Given the description of an element on the screen output the (x, y) to click on. 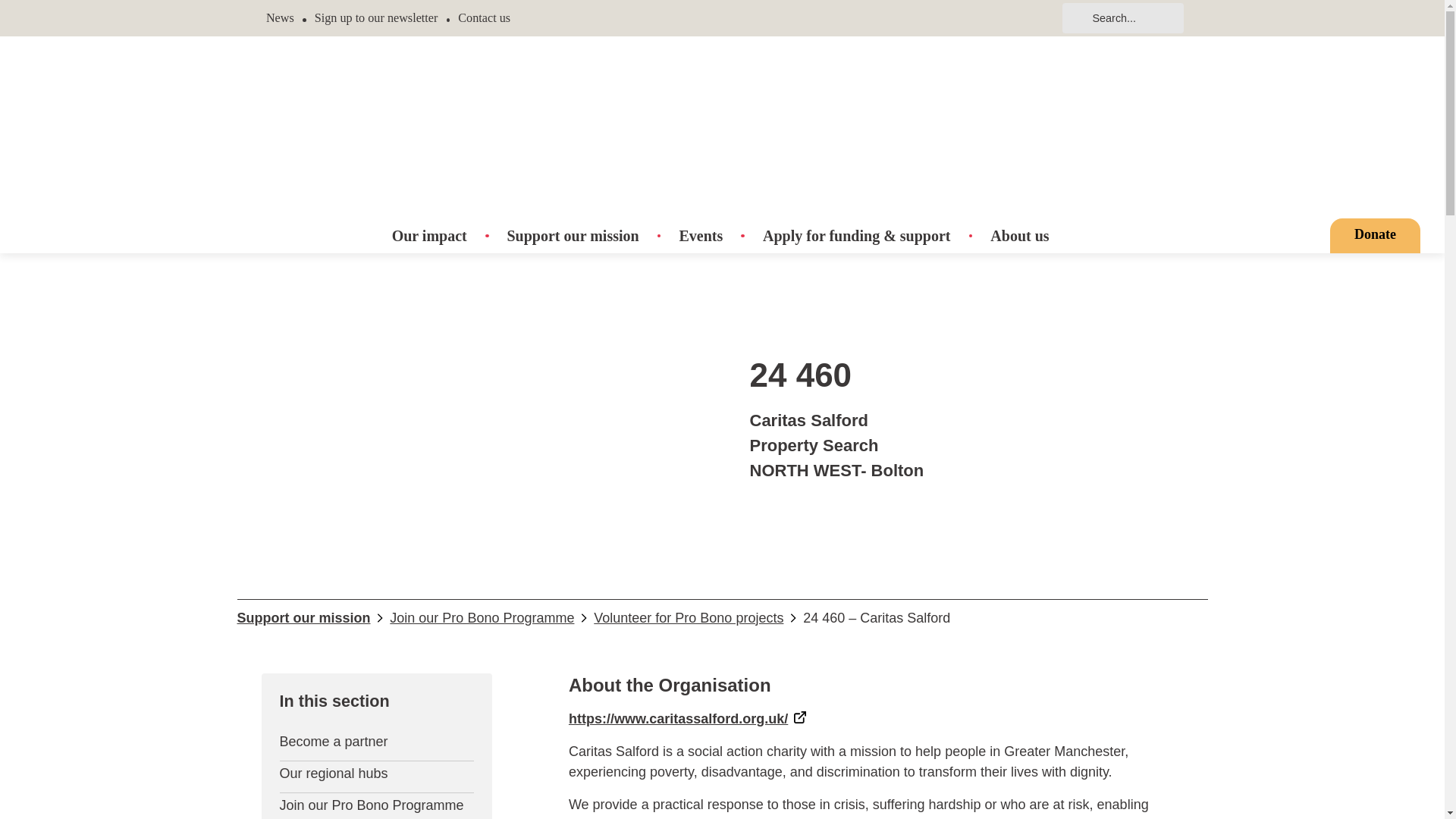
Donate (1375, 235)
Support our mission (572, 235)
Our impact (429, 235)
Contact us (484, 18)
Sign up to our newsletter (376, 18)
Events (700, 235)
News (280, 18)
About us (1019, 235)
